Given the description of an element on the screen output the (x, y) to click on. 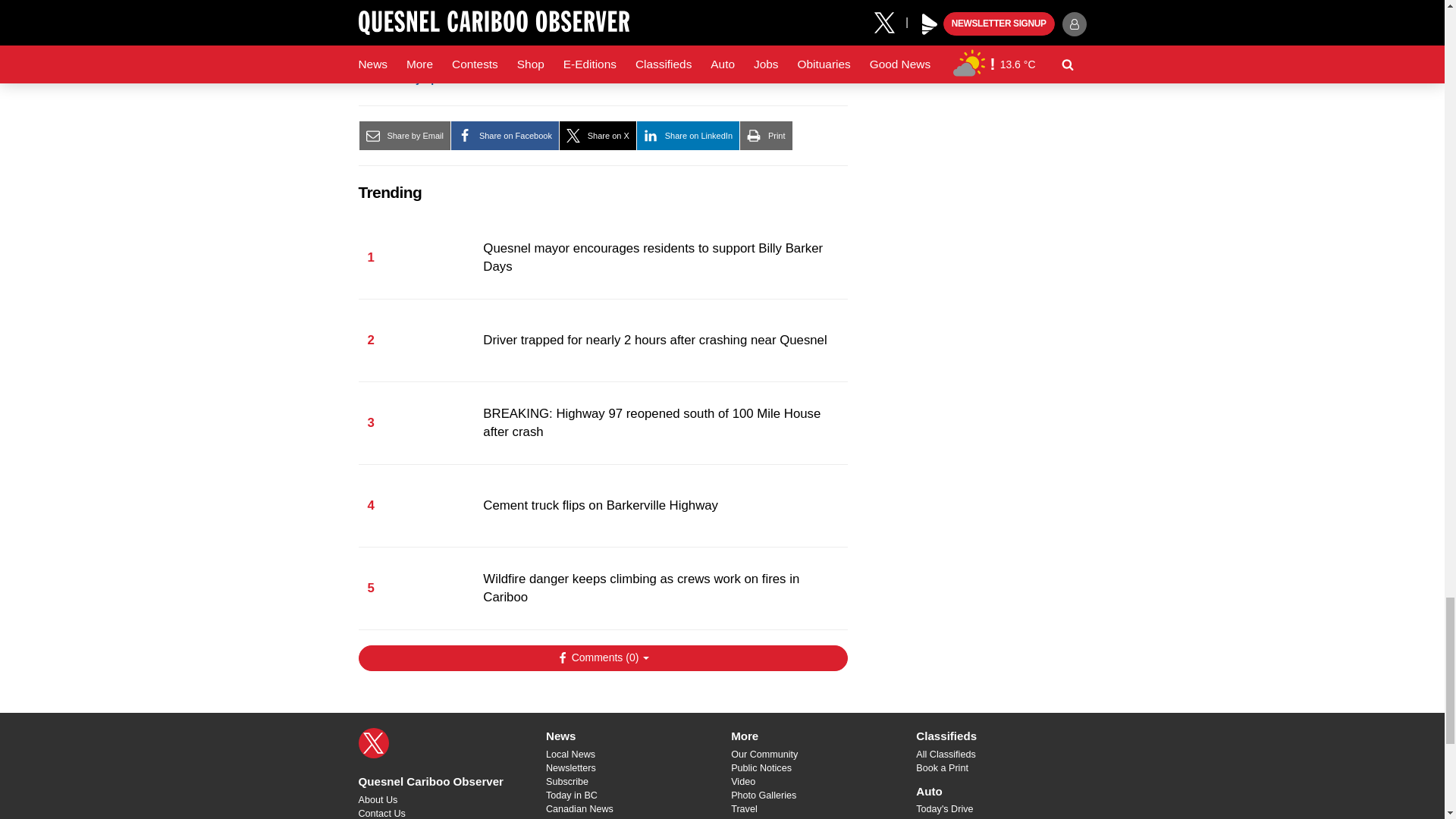
Show Comments (602, 657)
X (373, 743)
related story (584, 15)
